Given the description of an element on the screen output the (x, y) to click on. 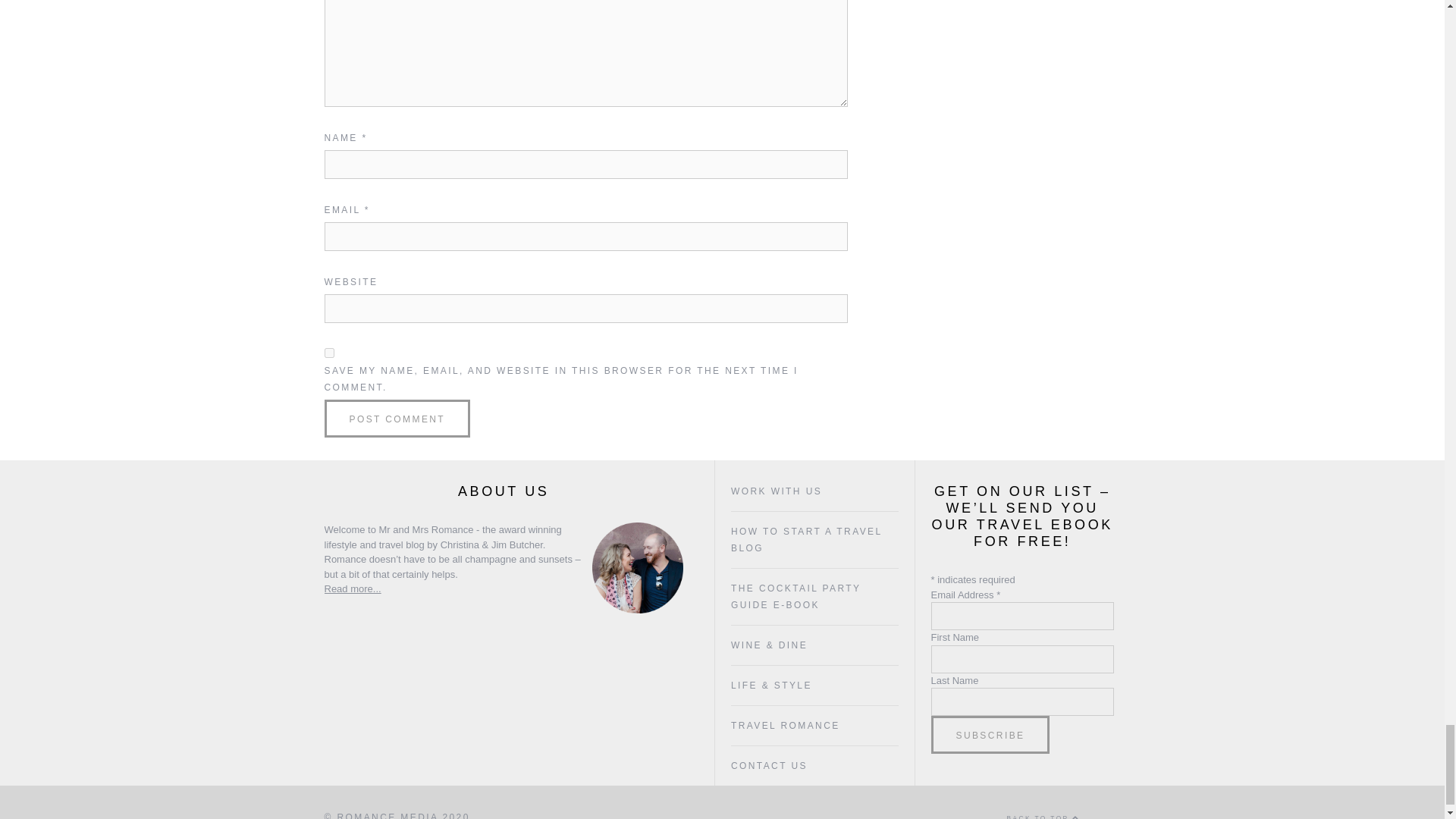
Subscribe (990, 734)
yes (329, 352)
Post Comment (397, 418)
